Given the description of an element on the screen output the (x, y) to click on. 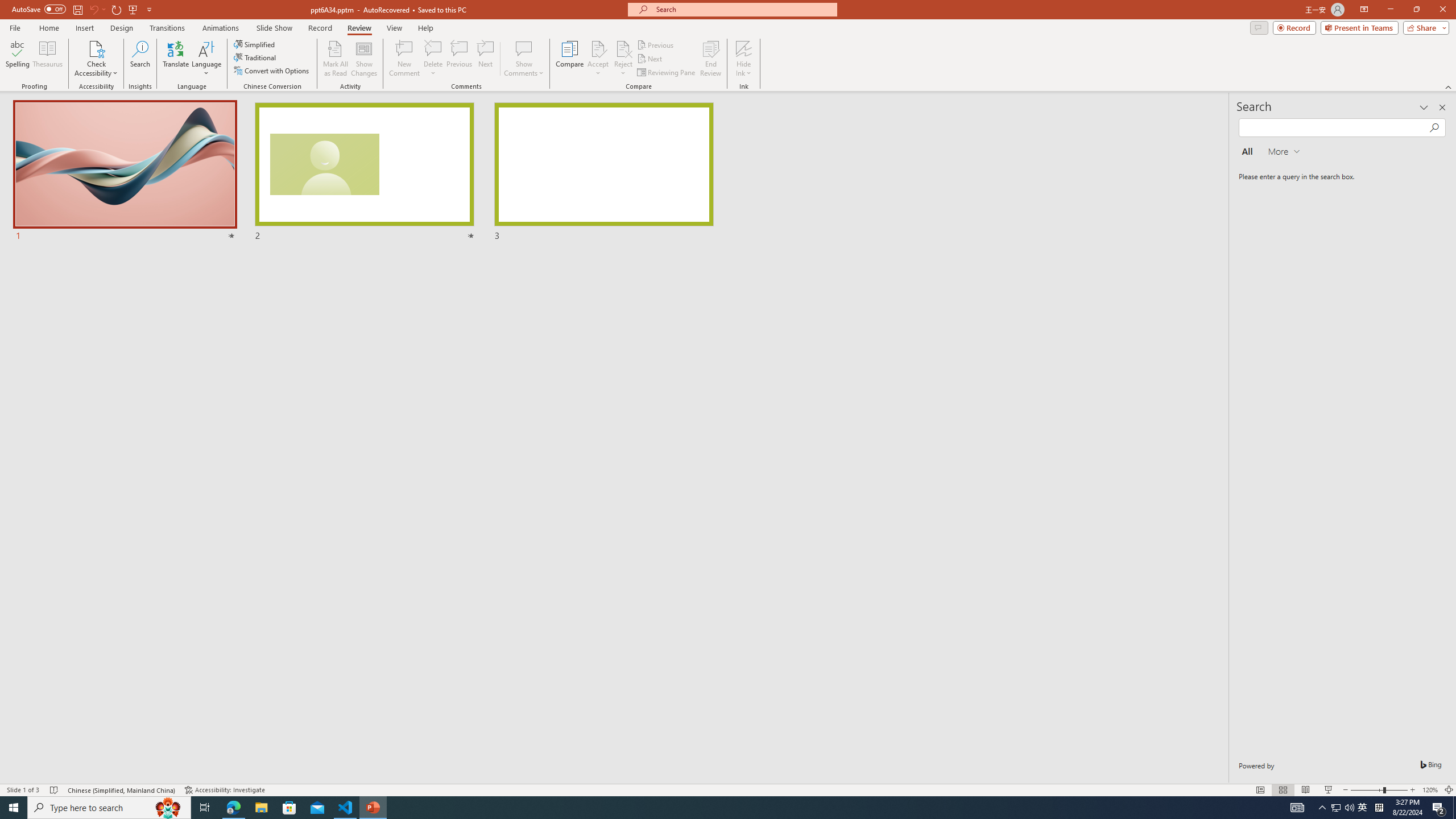
Zoom 120% (1430, 790)
